Given the description of an element on the screen output the (x, y) to click on. 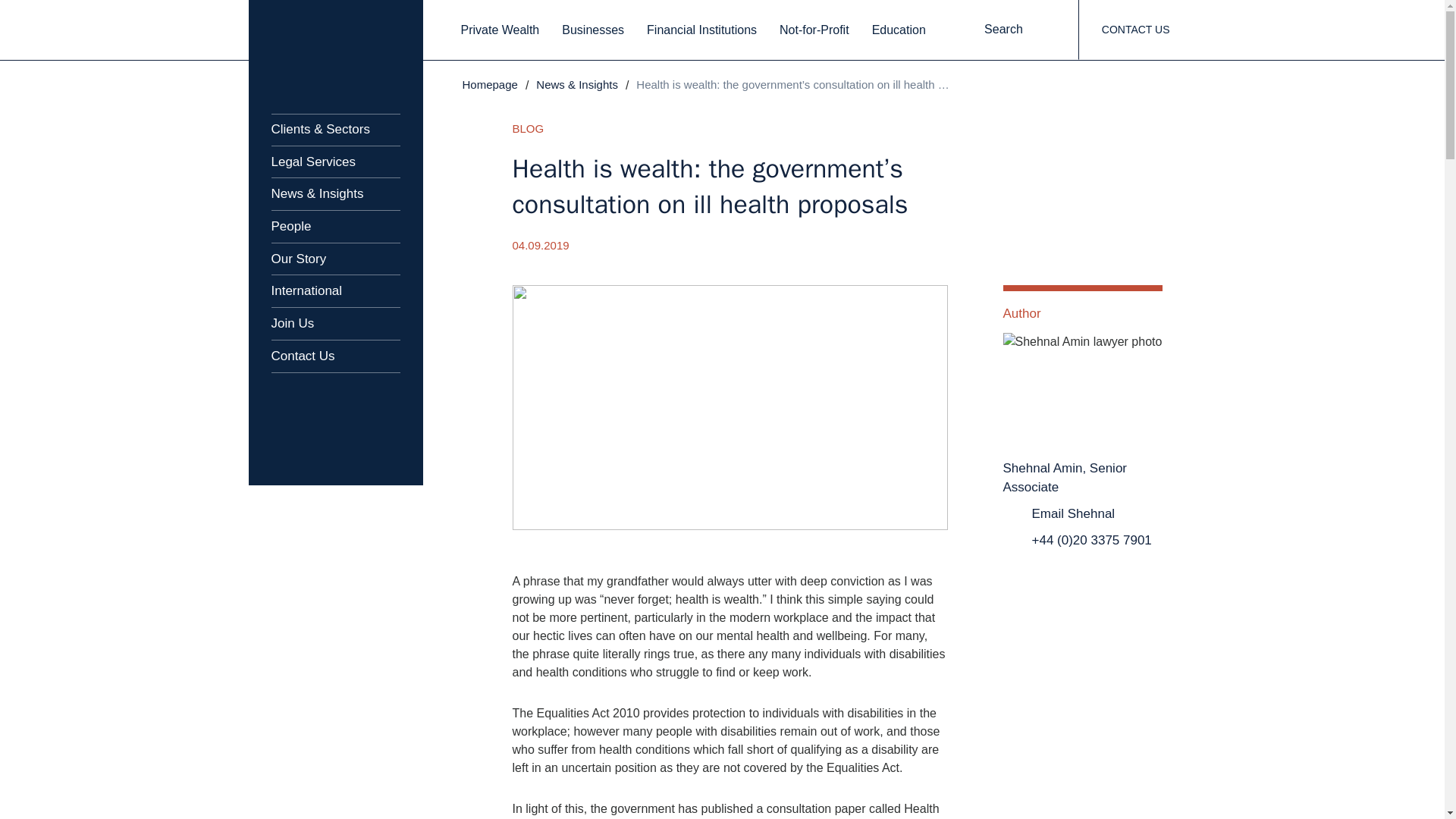
Education (899, 29)
Financial Institutions (701, 29)
Not-for-Profit (813, 29)
Search (1016, 29)
Businesses (593, 29)
Private Wealth (500, 29)
CONTACT US (1135, 29)
